Given the description of an element on the screen output the (x, y) to click on. 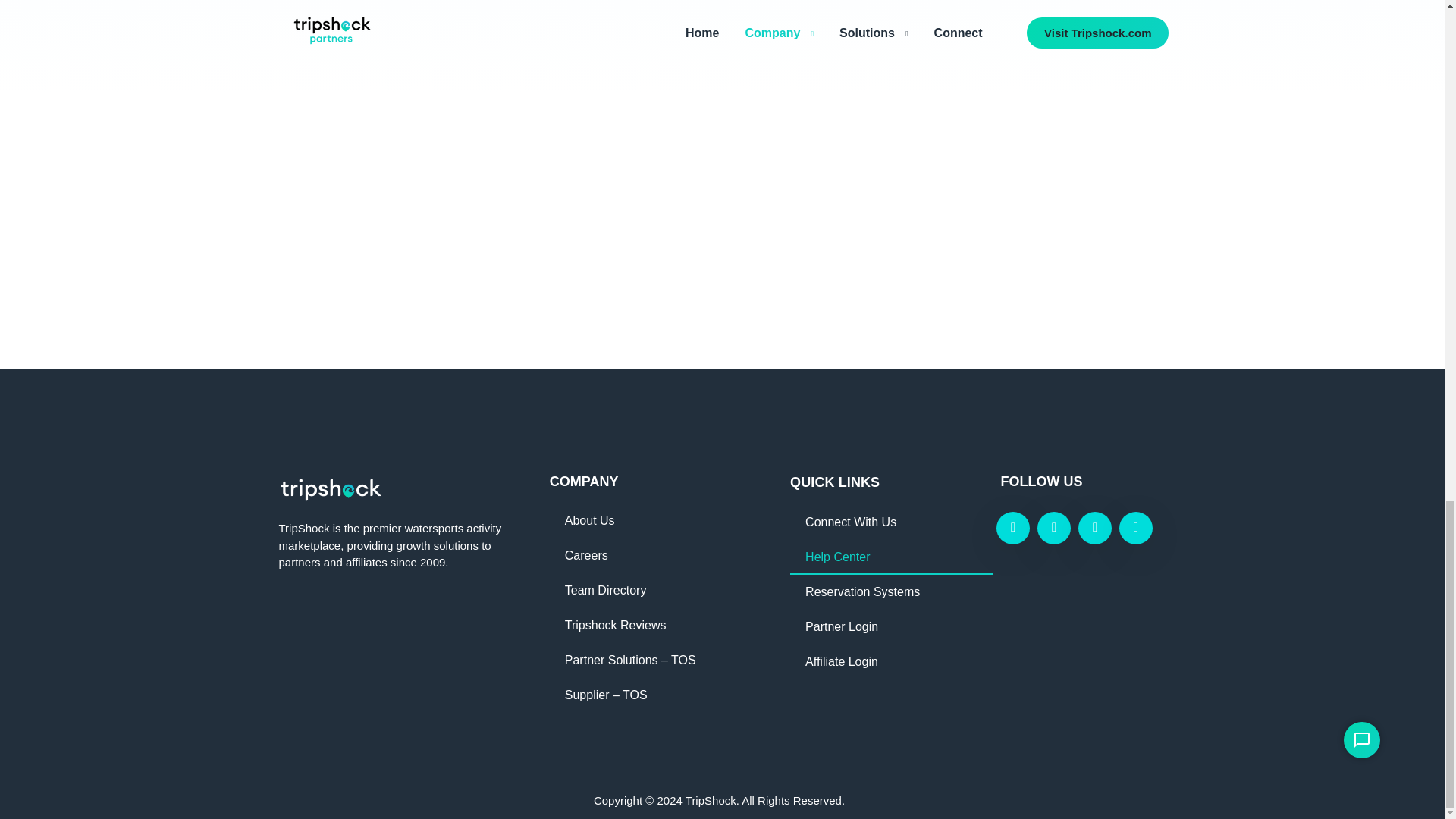
About Us (654, 520)
Team Directory (654, 590)
Careers (654, 555)
